Given the description of an element on the screen output the (x, y) to click on. 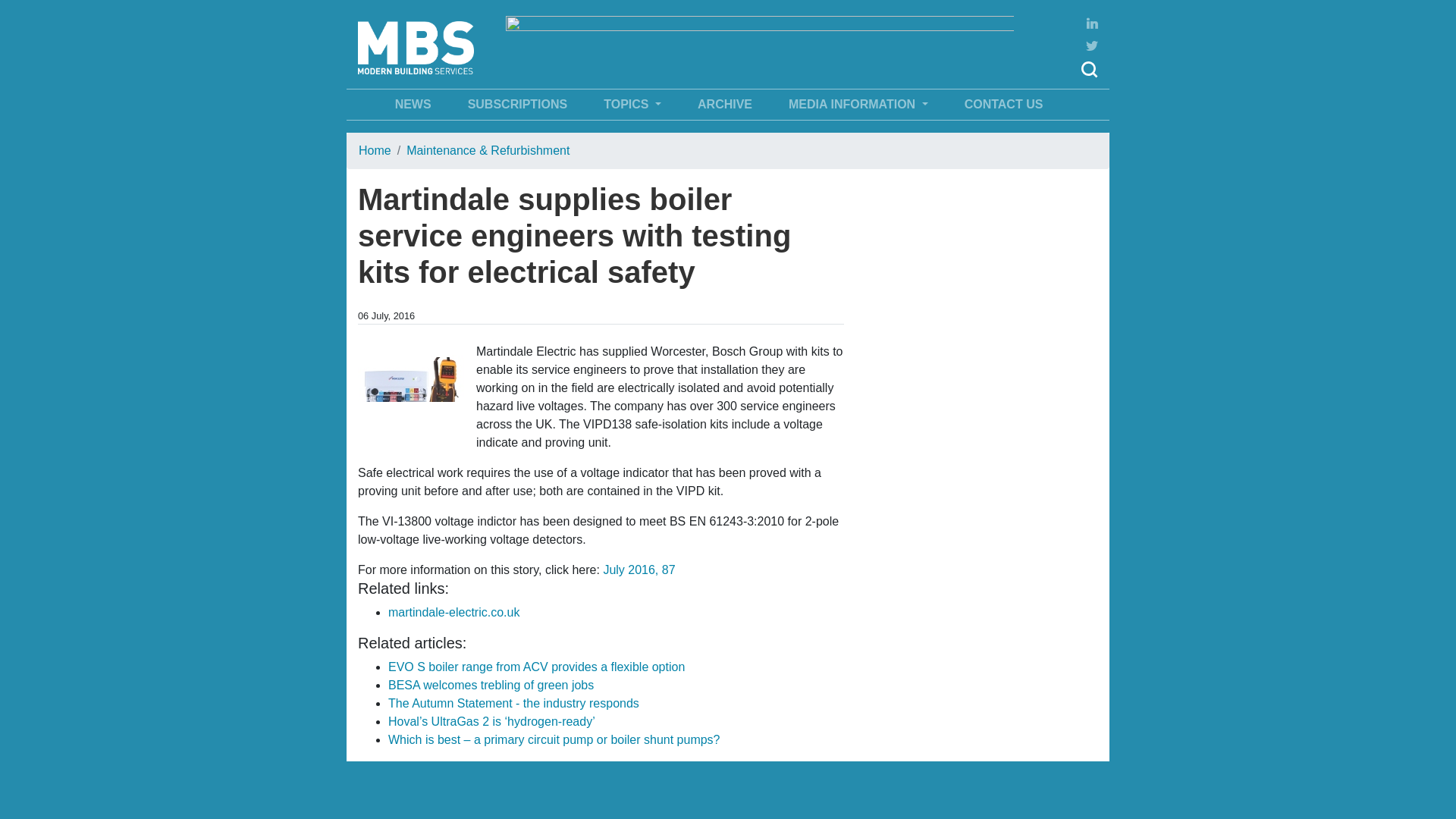
SUBSCRIPTIONS (517, 104)
NEWS (413, 104)
TOPICS (631, 104)
